Given the description of an element on the screen output the (x, y) to click on. 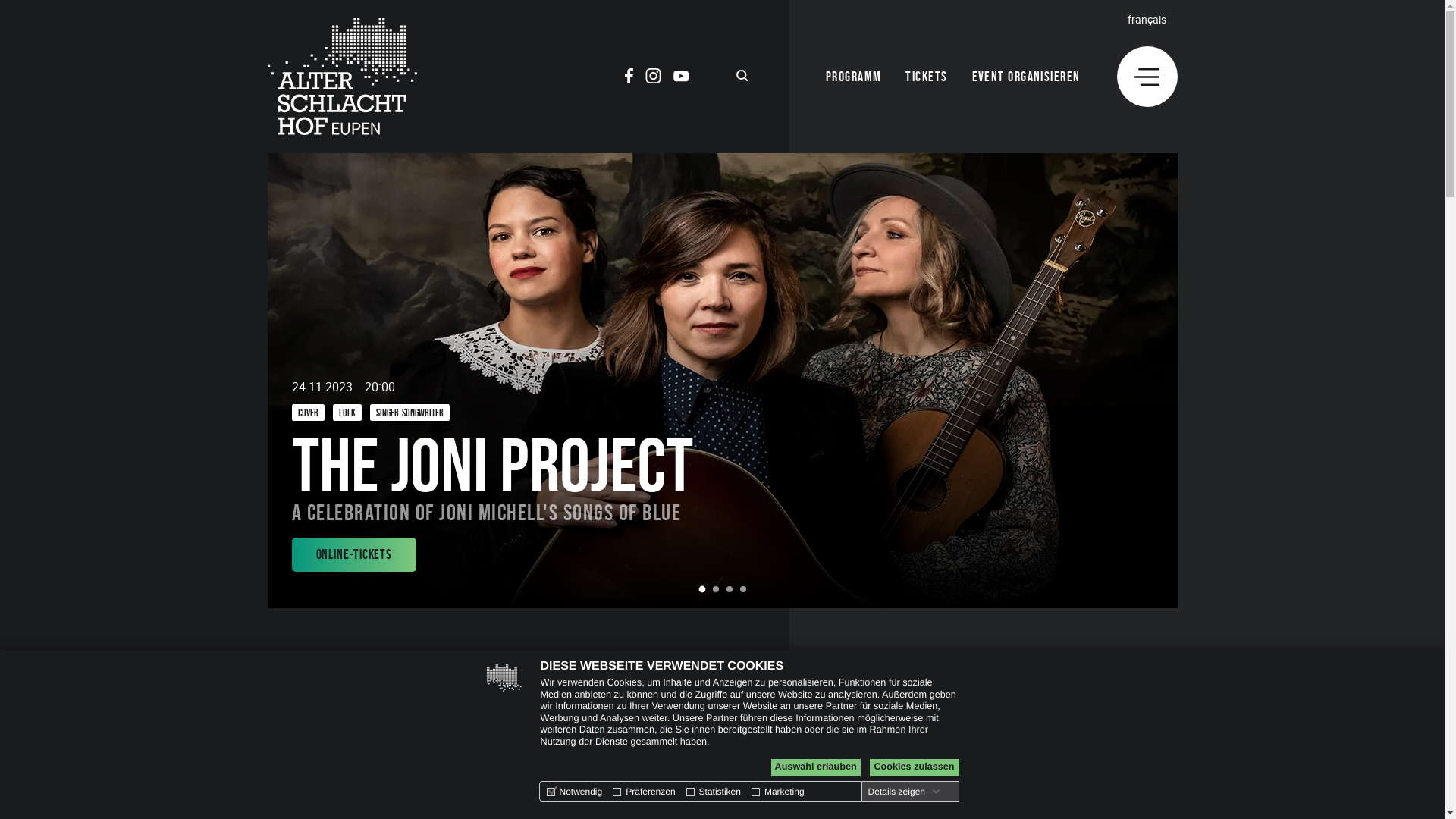
ONLINE-TICKETS Element type: text (353, 554)
TICKETS Element type: text (926, 76)
EVENT ORGANISIEREN Element type: text (1026, 76)
PROGRAMM Element type: text (853, 76)
Details zeigen Element type: text (904, 791)
Cookies zulassen Element type: text (913, 767)
Auswahl erlauben Element type: text (814, 767)
